Given the description of an element on the screen output the (x, y) to click on. 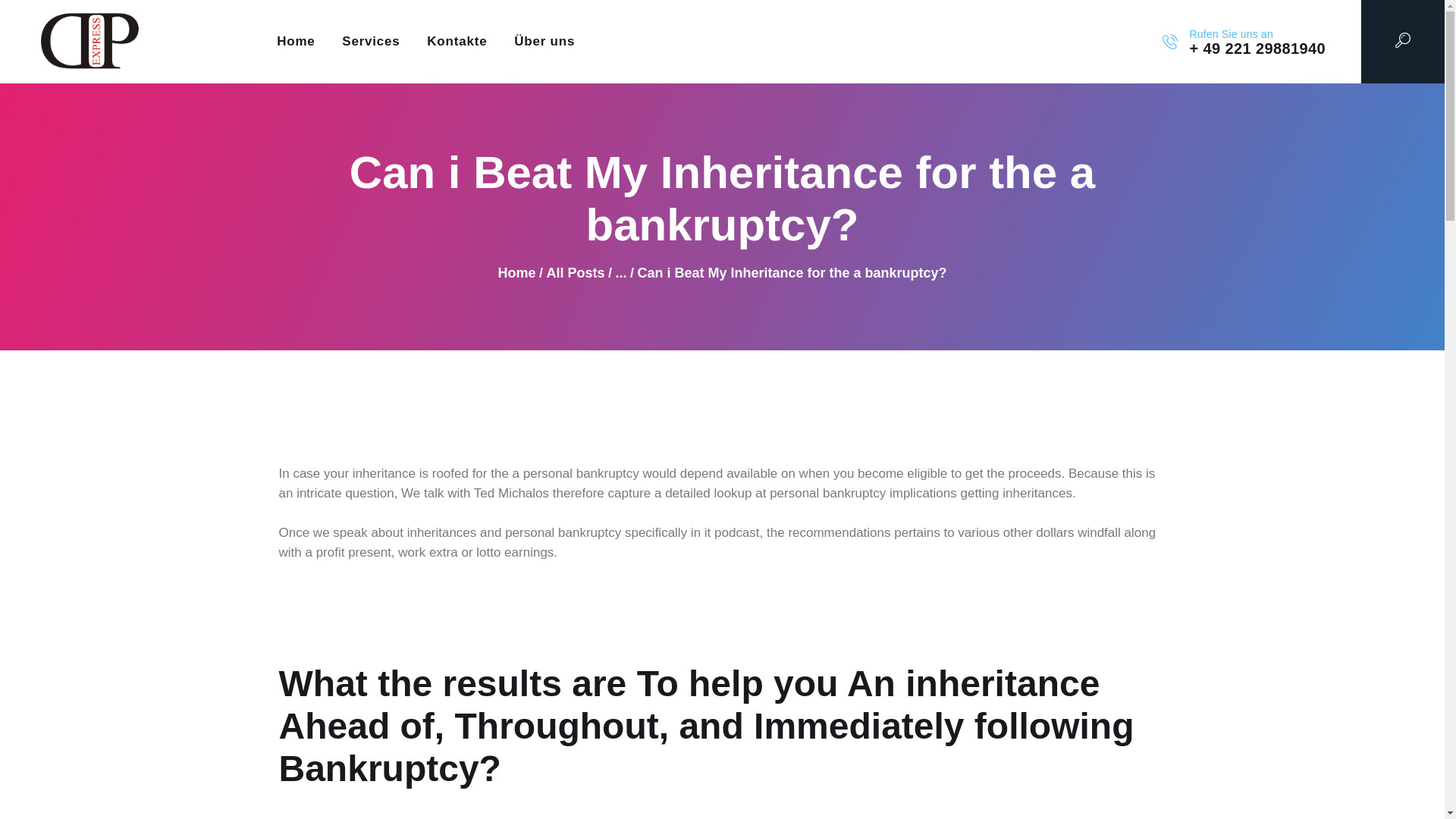
All Posts (575, 272)
Home (296, 41)
Home (516, 273)
Services (371, 41)
Kontakte (456, 41)
